Given the description of an element on the screen output the (x, y) to click on. 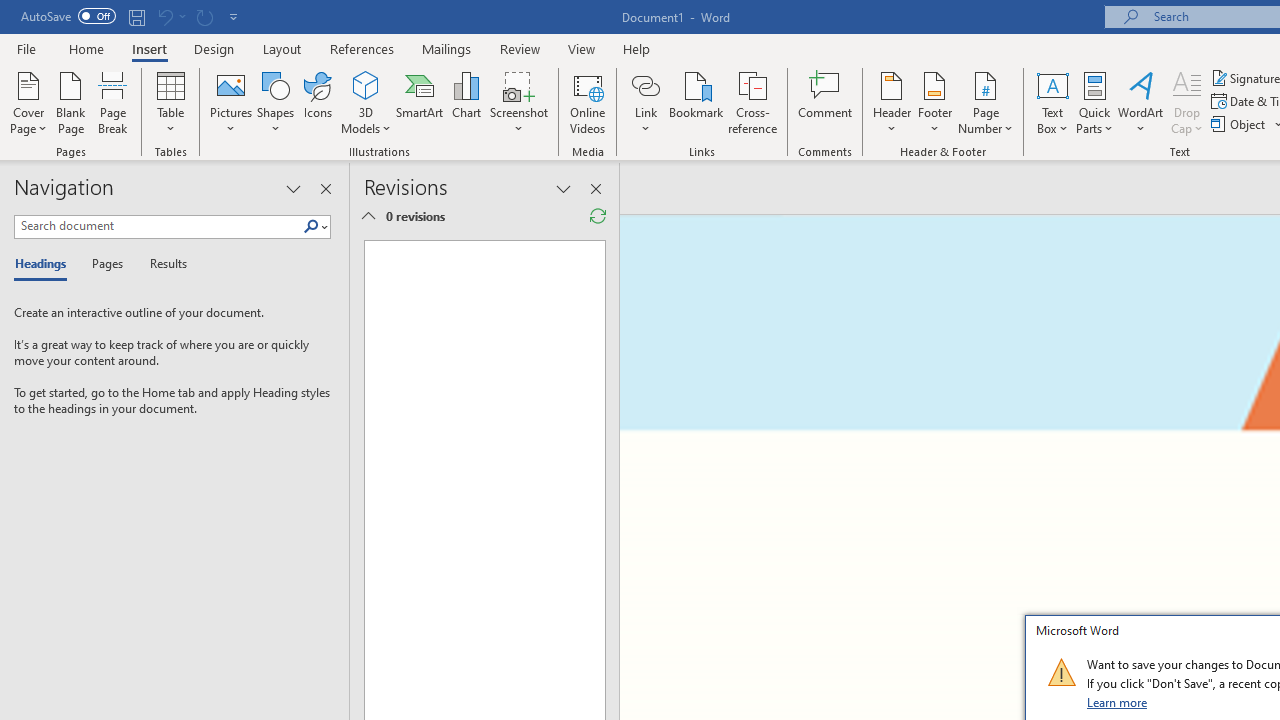
Page Break (113, 102)
Text Box (1052, 102)
Online Videos... (588, 102)
Cross-reference... (752, 102)
Link (645, 84)
Header (891, 102)
Comment (825, 102)
